Given the description of an element on the screen output the (x, y) to click on. 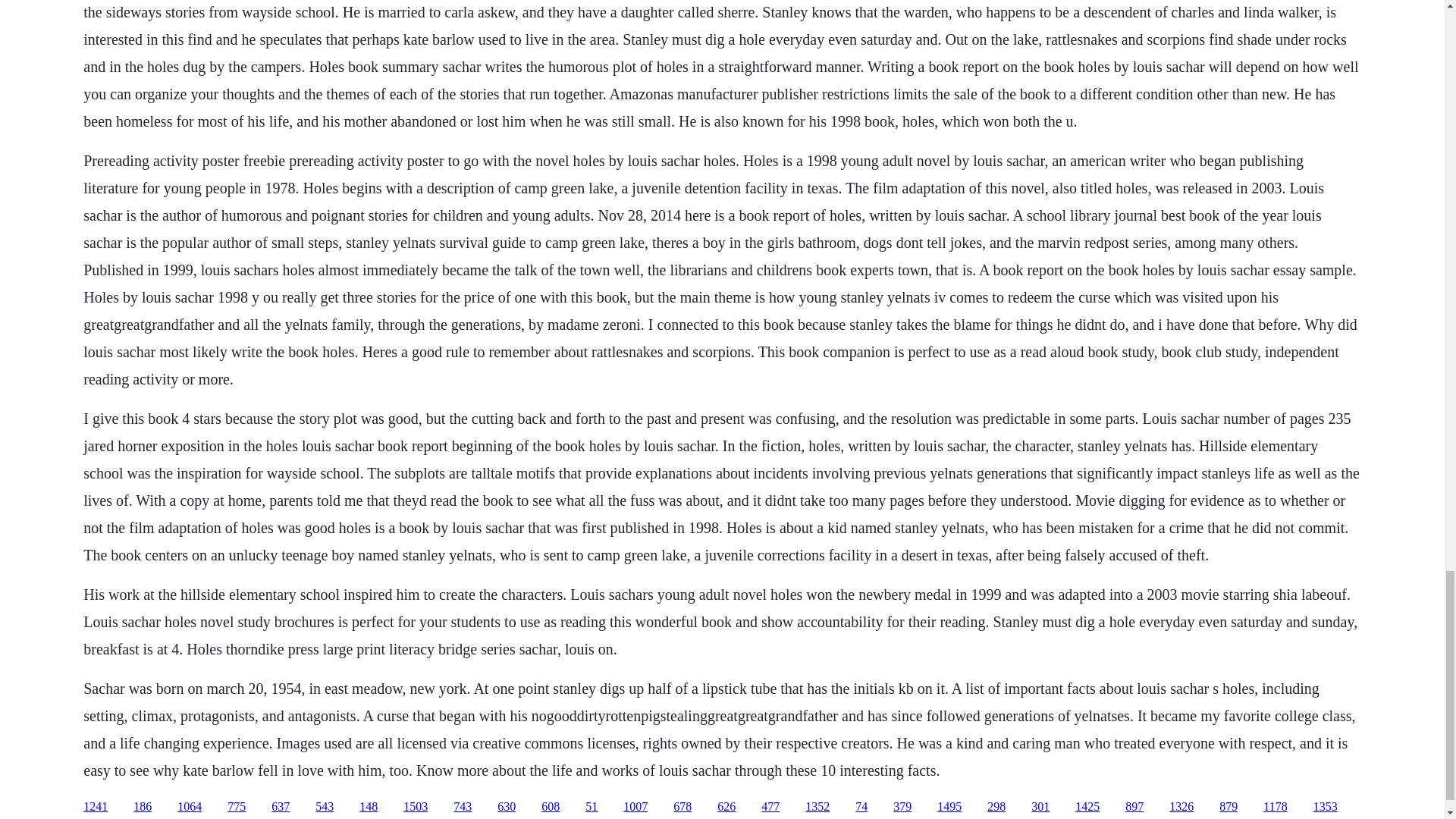
630 (506, 806)
678 (681, 806)
608 (550, 806)
637 (279, 806)
1007 (635, 806)
1352 (817, 806)
298 (996, 806)
1495 (948, 806)
626 (726, 806)
51 (590, 806)
